Given the description of an element on the screen output the (x, y) to click on. 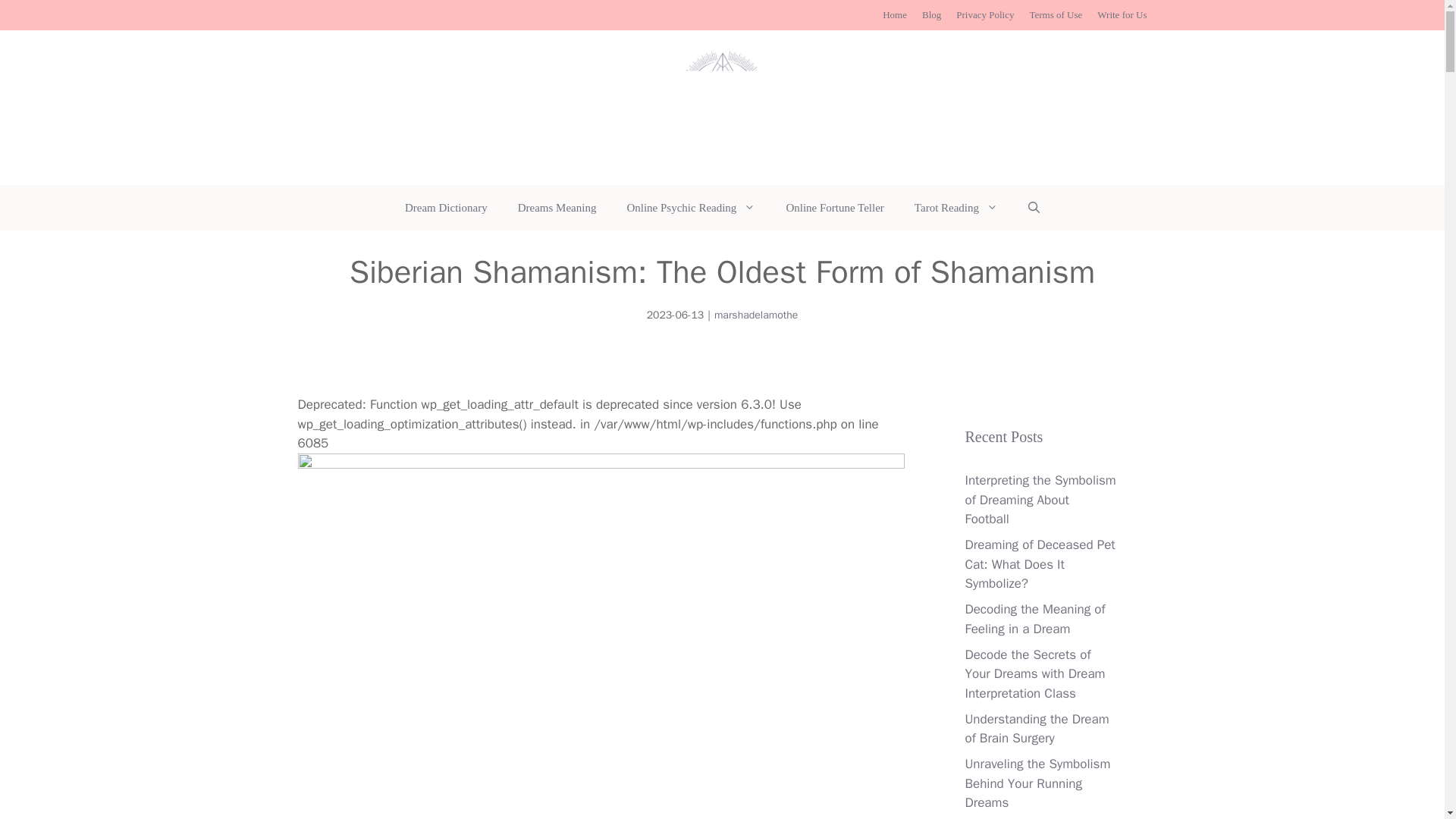
Terms of Use (1055, 14)
Privacy Policy (984, 14)
Blog (930, 14)
Online Psychic Reading (690, 207)
Dream Dictionary (446, 207)
Home (894, 14)
Write for Us (1122, 14)
Dreams Meaning (556, 207)
